Given the description of an element on the screen output the (x, y) to click on. 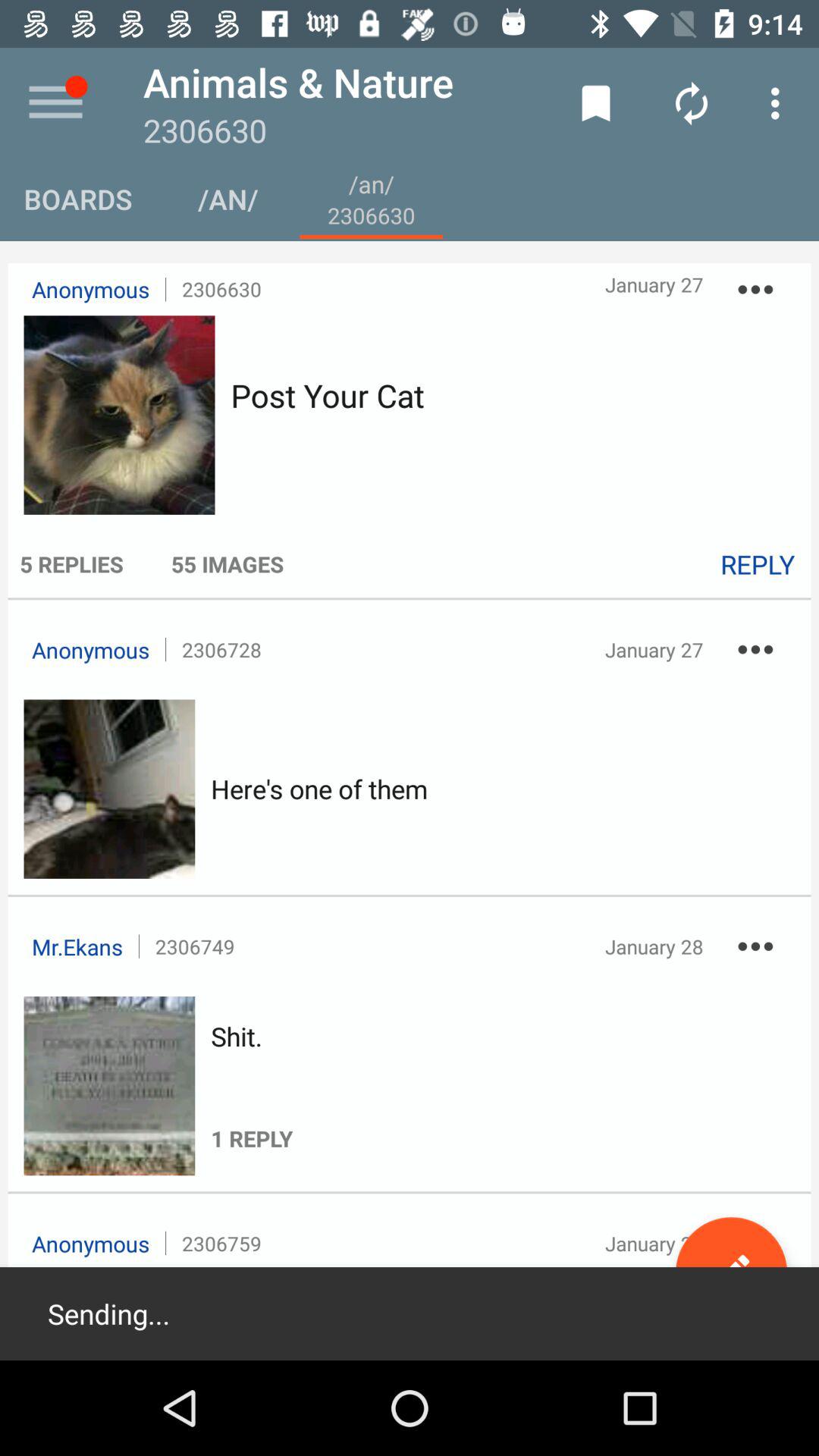
click icon above the 2306749 icon (319, 788)
